Given the description of an element on the screen output the (x, y) to click on. 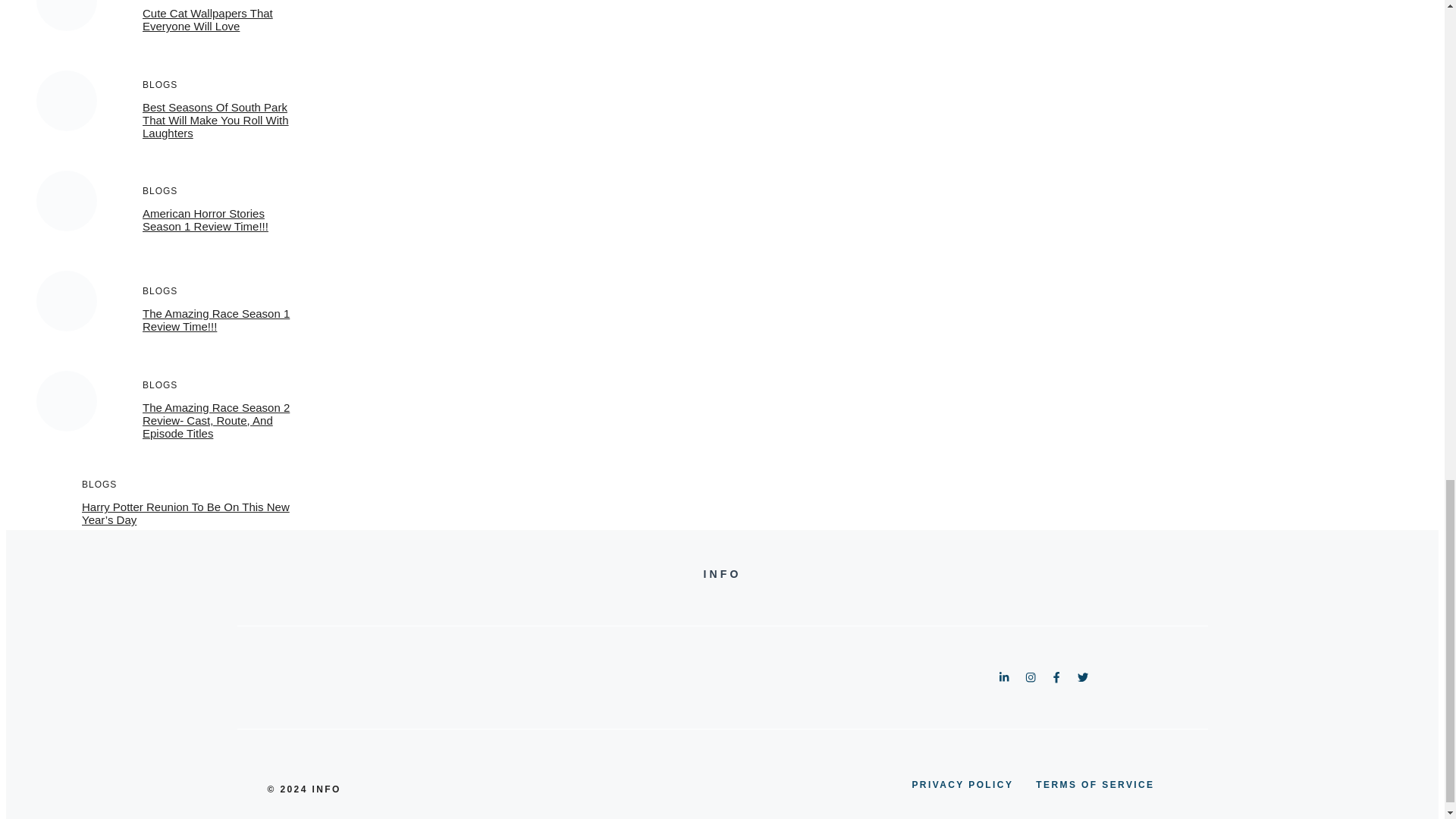
TERMS OF SERVICE (1094, 784)
Cute Cat Wallpapers That Everyone Will Love (207, 19)
The Amazing Race Season 1 Review Time!!! (215, 319)
American Horror Stories Season 1 Review Time!!! (204, 219)
PRIVACY POLICY (962, 784)
